Given the description of an element on the screen output the (x, y) to click on. 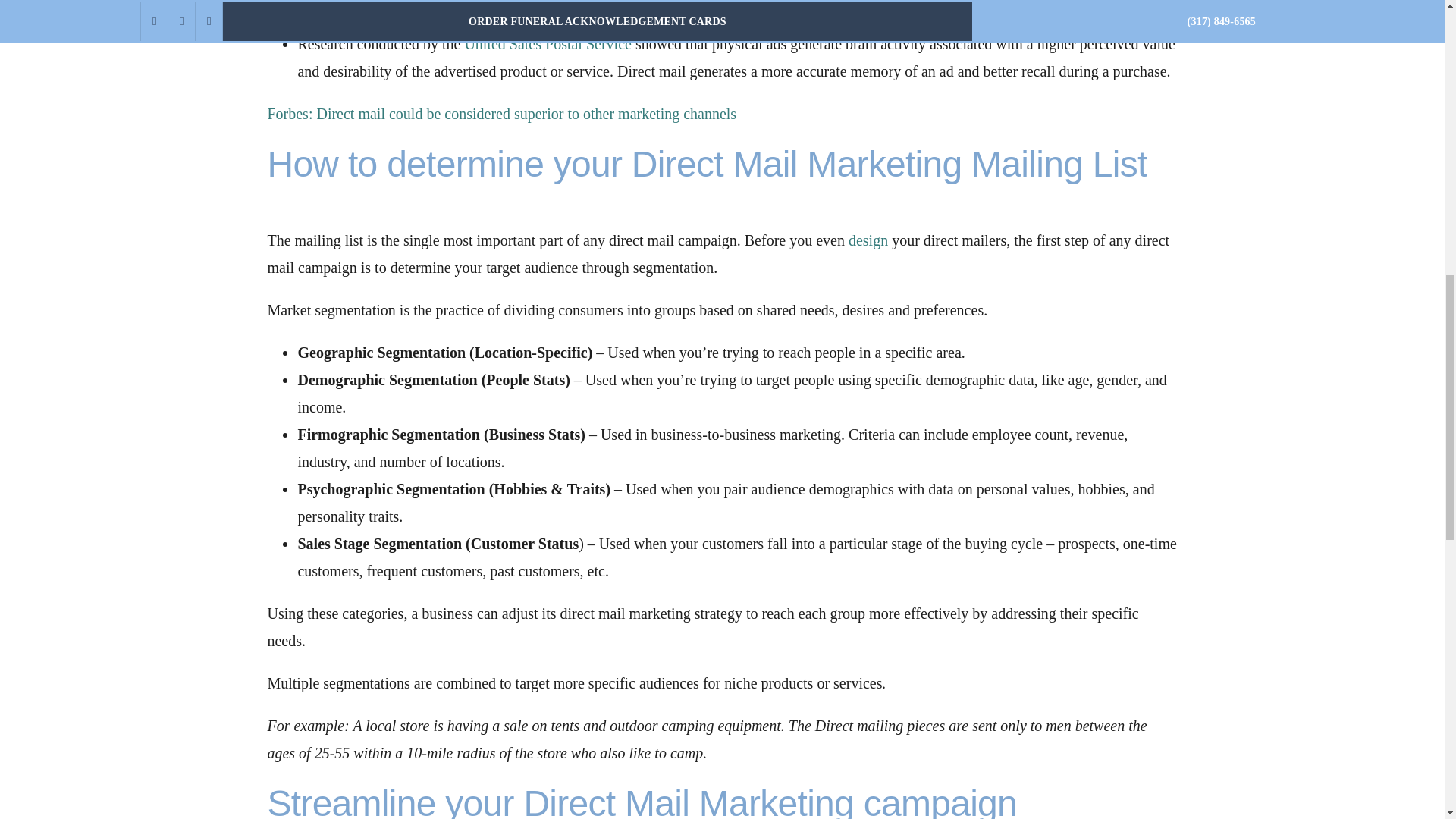
design (868, 239)
United Sates Postal Service (547, 44)
